Given the description of an element on the screen output the (x, y) to click on. 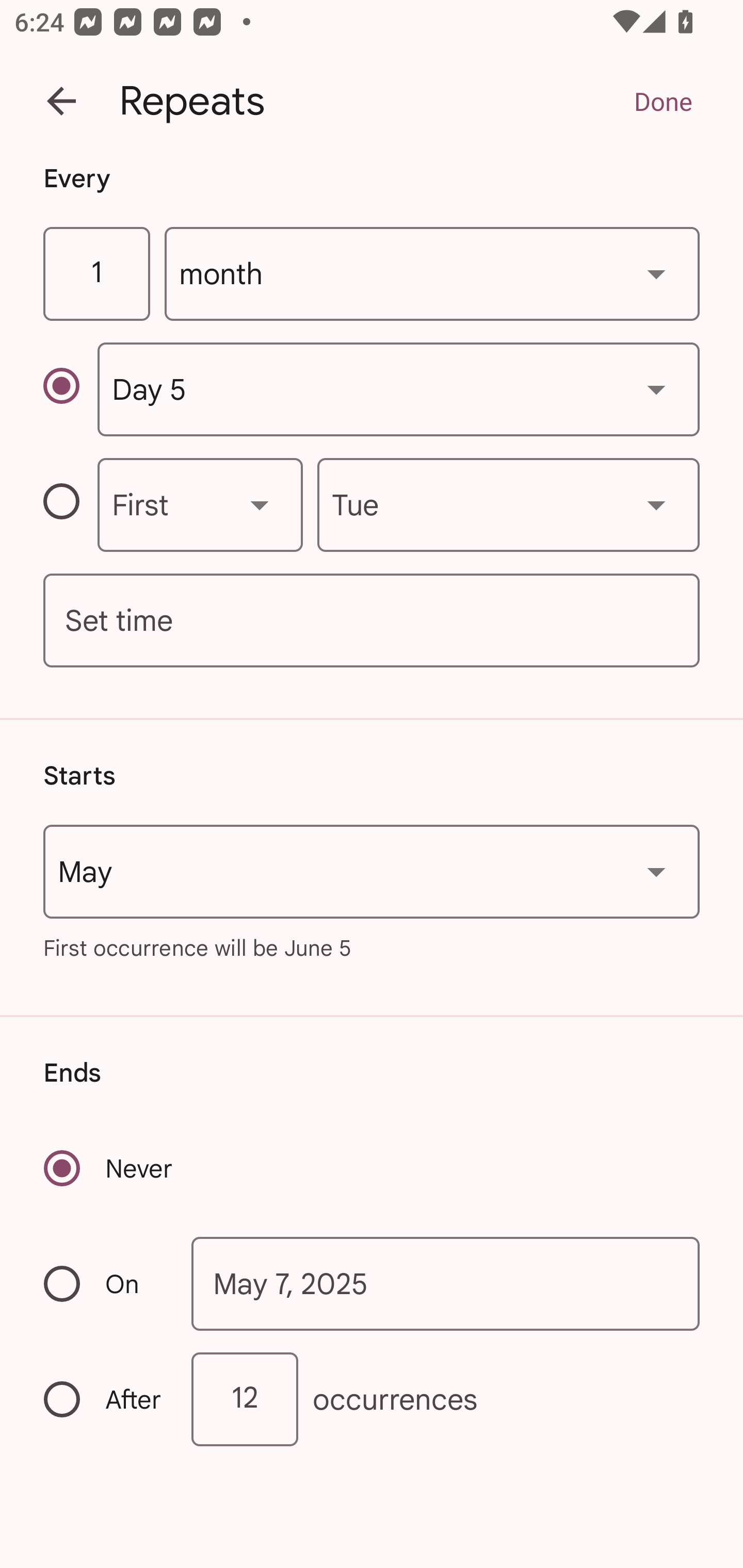
Back (61, 101)
Done (663, 101)
1 (96, 274)
month (431, 274)
Show dropdown menu (655, 273)
Day 5 (398, 388)
Show dropdown menu (655, 389)
Repeat monthly on a specific day of the month (70, 389)
First (200, 504)
Tue (508, 504)
Show dropdown menu (259, 504)
Show dropdown menu (655, 504)
Repeat monthly on a specific weekday (70, 504)
Set time (371, 620)
May (371, 871)
Show dropdown menu (655, 871)
Never Recurrence never ends (109, 1168)
May 7, 2025 (445, 1284)
On Recurrence ends on a specific date (104, 1283)
12 (244, 1398)
